Given the description of an element on the screen output the (x, y) to click on. 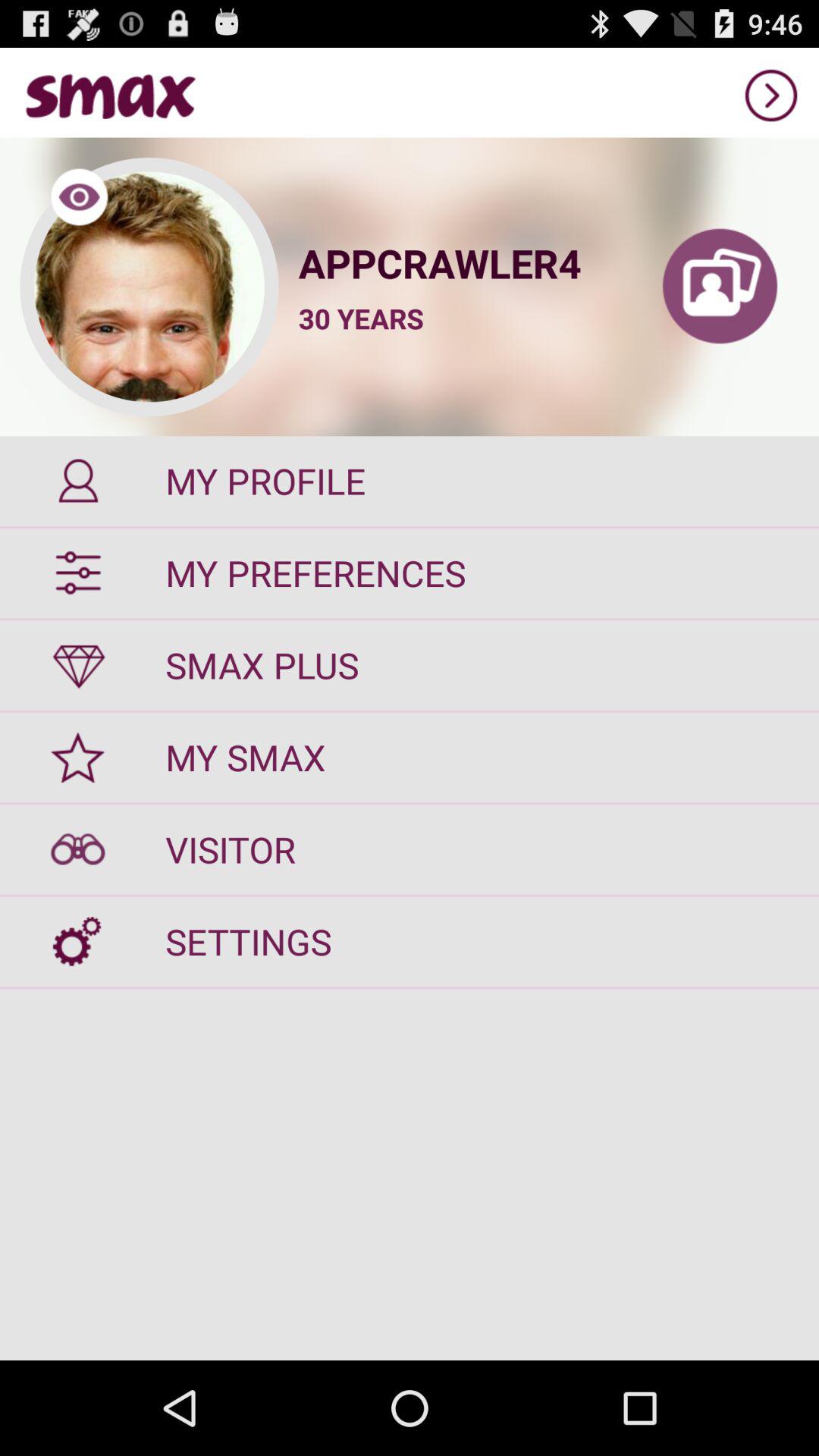
view profile (719, 286)
